Given the description of an element on the screen output the (x, y) to click on. 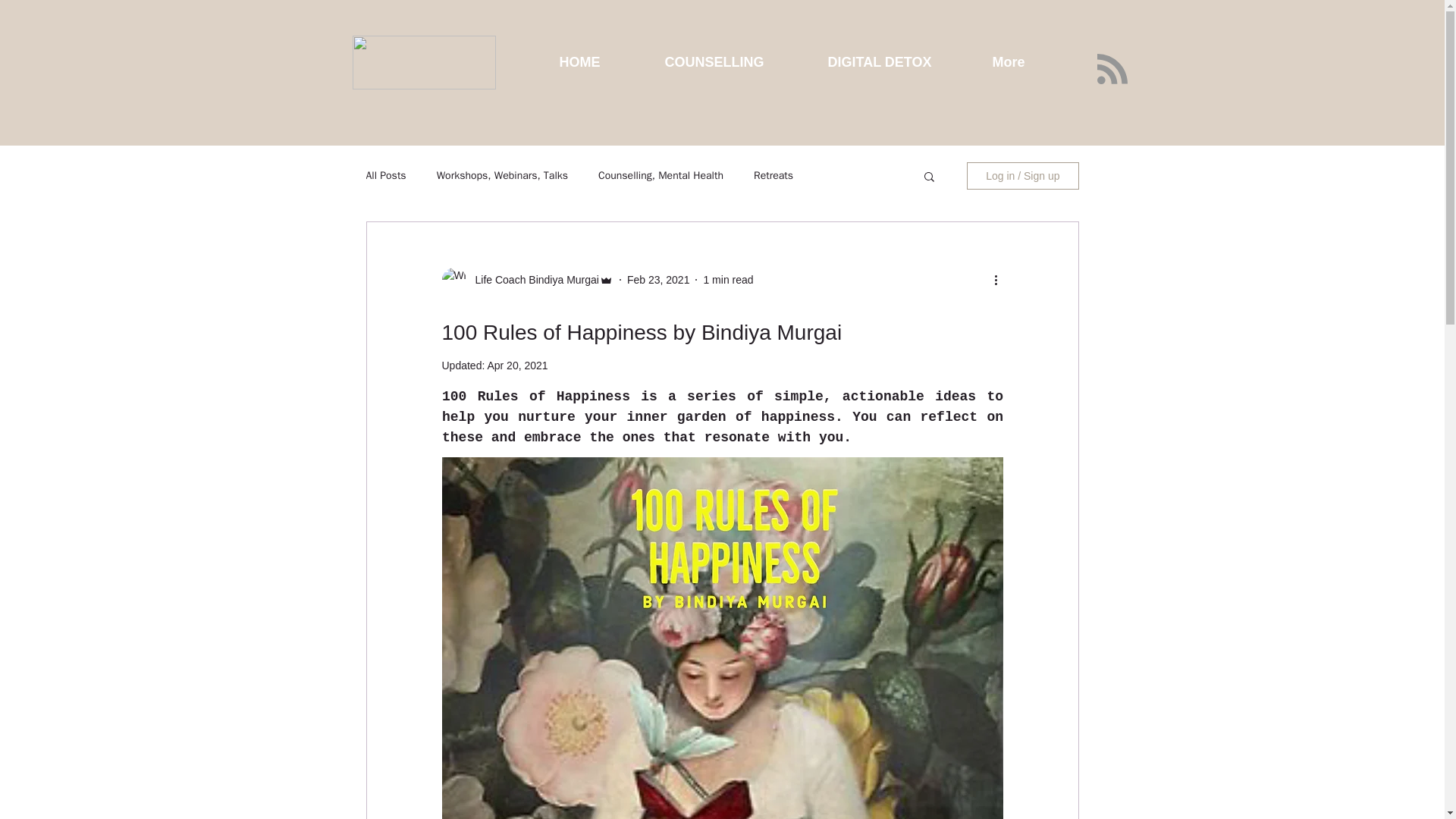
DIGITAL DETOX (897, 62)
1 min read (727, 278)
HOME (599, 62)
Counselling, Mental Health (660, 175)
Feb 23, 2021 (658, 278)
Healing Hideaway by BM logo.png (423, 62)
Workshops, Webinars, Talks (501, 175)
Retreats (773, 175)
Life Coach Bindiya Murgai (531, 279)
All Posts (385, 175)
COUNSELLING (734, 62)
Apr 20, 2021 (516, 365)
